Given the description of an element on the screen output the (x, y) to click on. 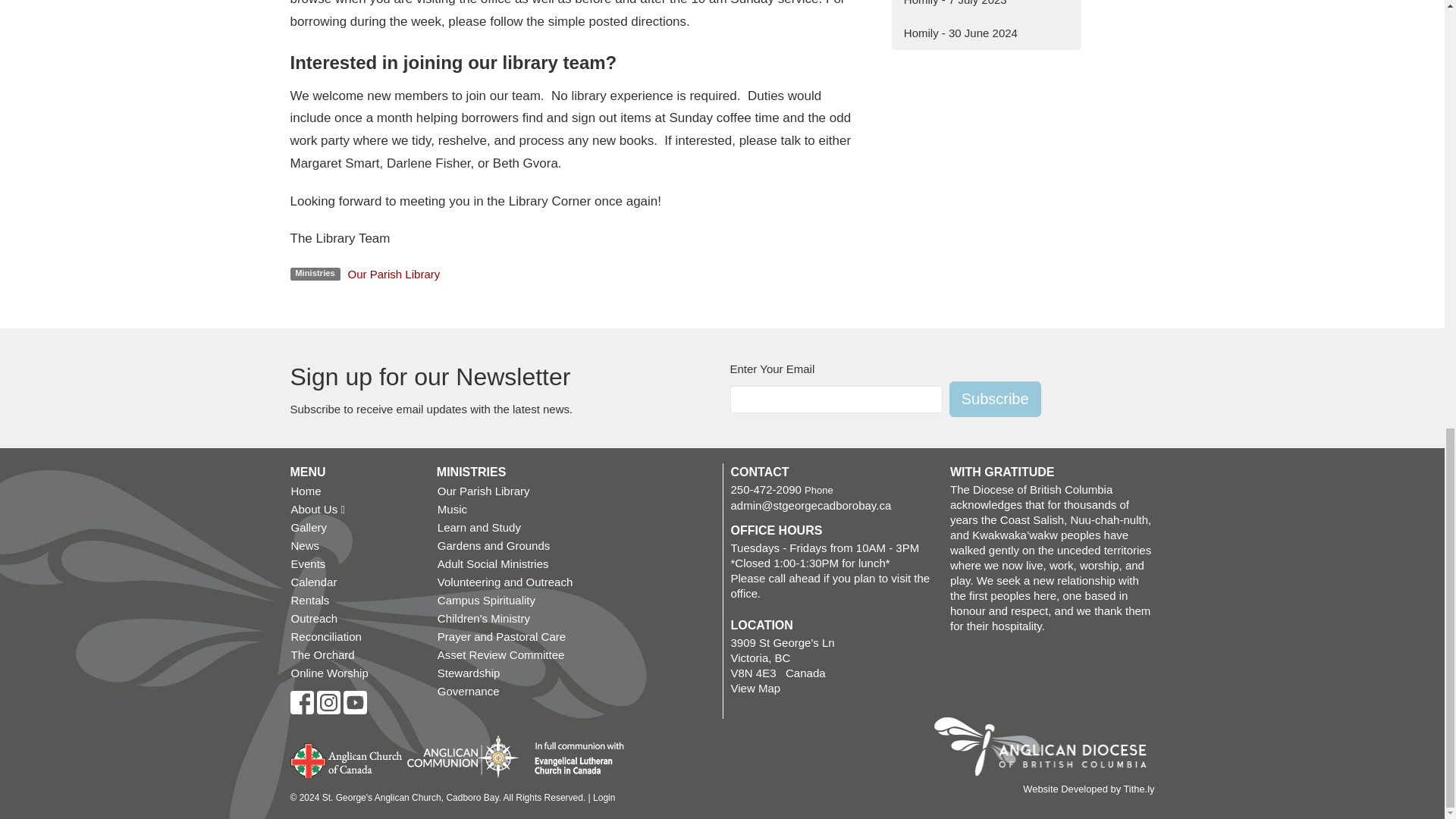
Our Parish Library (394, 273)
Facebook Icon (301, 702)
Homily - 7 July 2023 (986, 8)
Youtube Icon (354, 702)
Instagram Icon (328, 702)
